Given the description of an element on the screen output the (x, y) to click on. 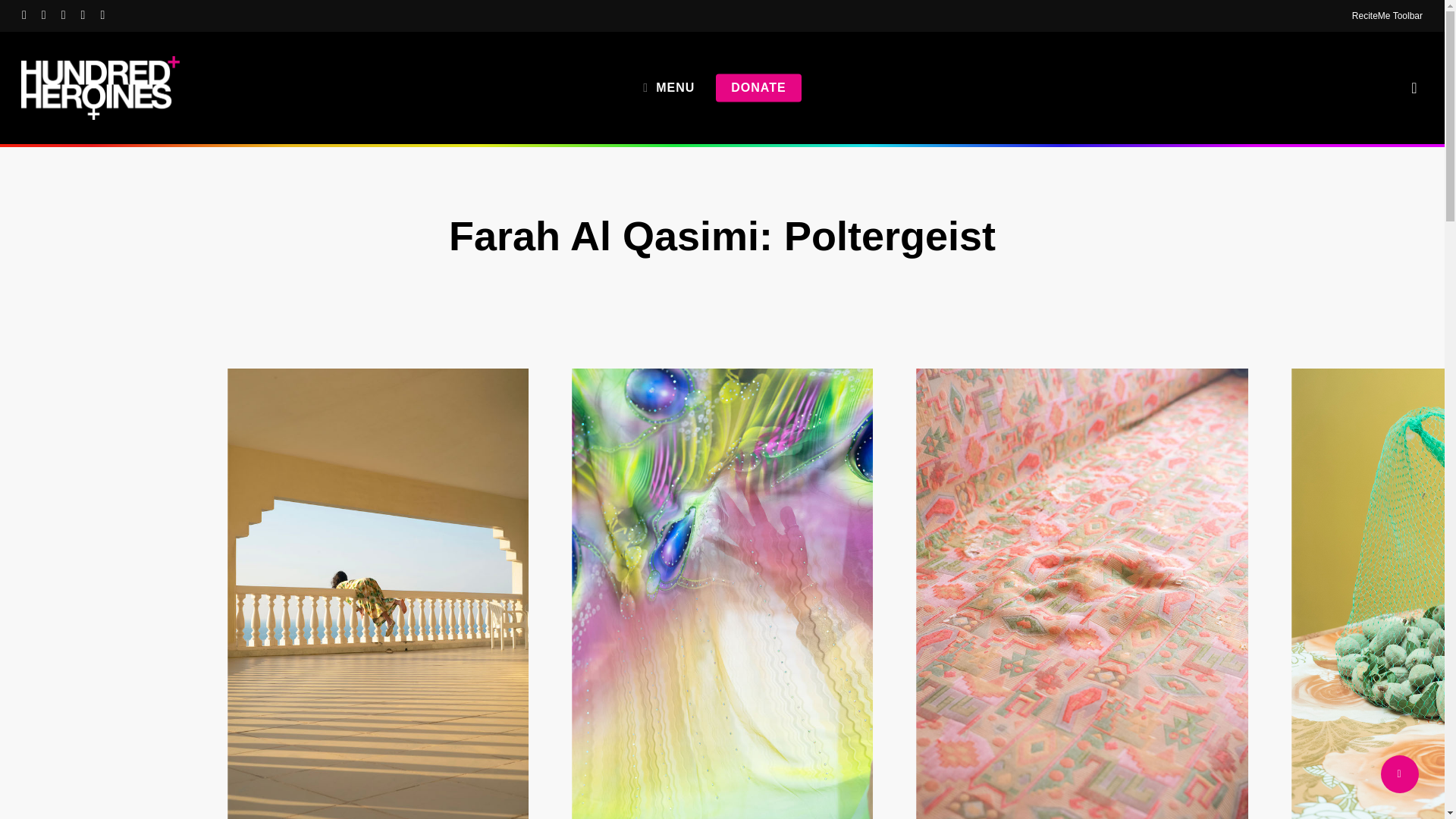
DONATE (758, 87)
ReciteMe Toolbar (1387, 15)
MENU (668, 87)
